Given the description of an element on the screen output the (x, y) to click on. 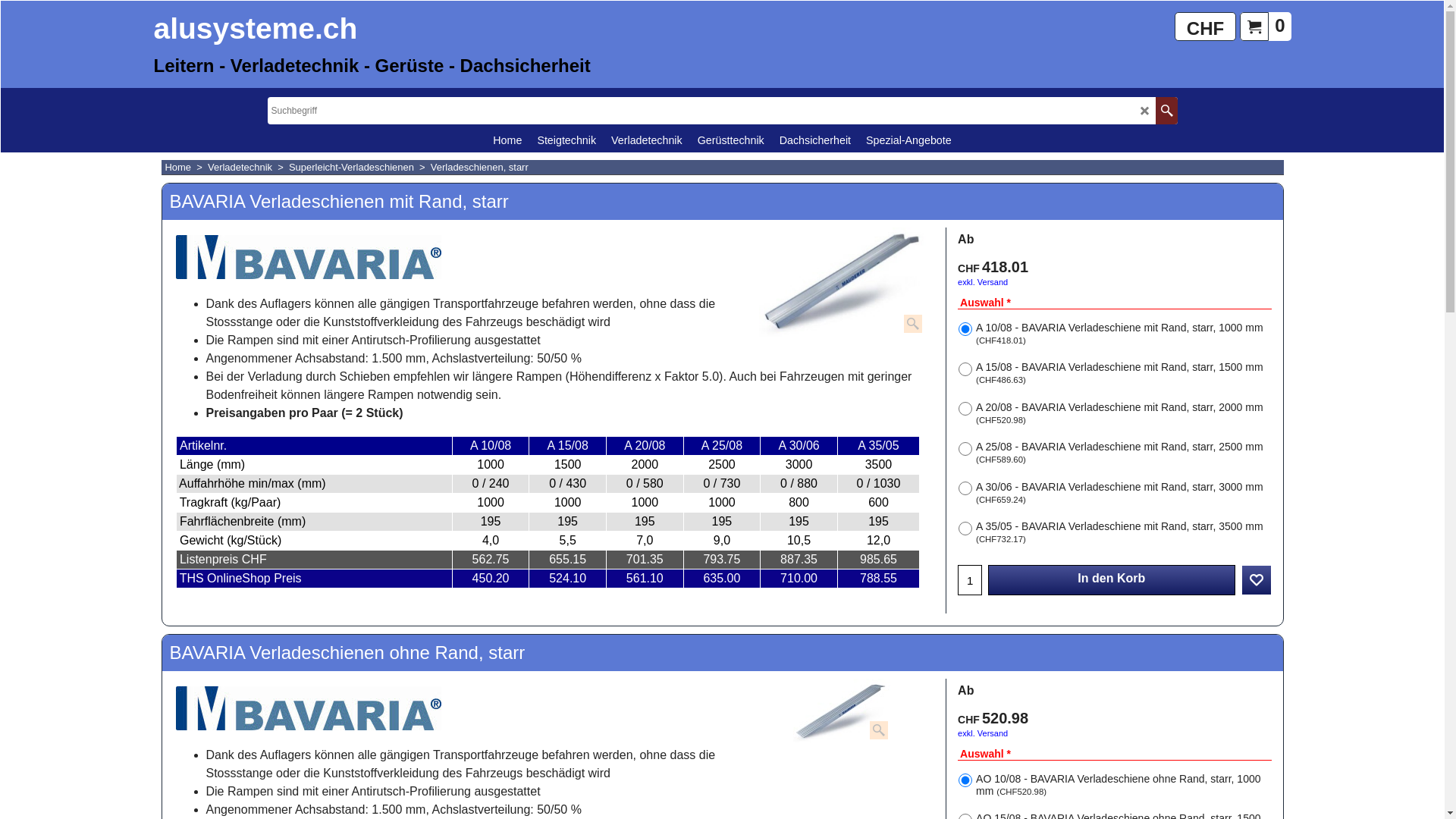
In den Korb Element type: text (1110, 579)
1 Element type: text (969, 579)
Verladetechnik Element type: text (646, 139)
BAVARIA Verladeschiene mit Rand, starr Element type: hover (842, 281)
Dachsicherheit Element type: text (814, 139)
Verladetechnik  >  Element type: text (247, 166)
Home  >  Element type: text (186, 166)
Favoriten Element type: hover (1256, 579)
BAVARIA Verladeschiene ohne Rand, starr Element type: hover (842, 710)
Suche Element type: hover (1166, 110)
exkl. Versand Element type: text (982, 732)
Superleicht-Verladeschienen  >  Element type: text (359, 166)
Home Element type: text (507, 139)
alusysteme.ch Element type: text (256, 30)
exkl. Versand Element type: text (982, 281)
0 Element type: text (1264, 25)
Steigtechnik Element type: text (566, 139)
Spezial-Angebote Element type: text (908, 139)
CHF Element type: text (1205, 26)
LD_CANCEL Element type: hover (1144, 110)
